Given the description of an element on the screen output the (x, y) to click on. 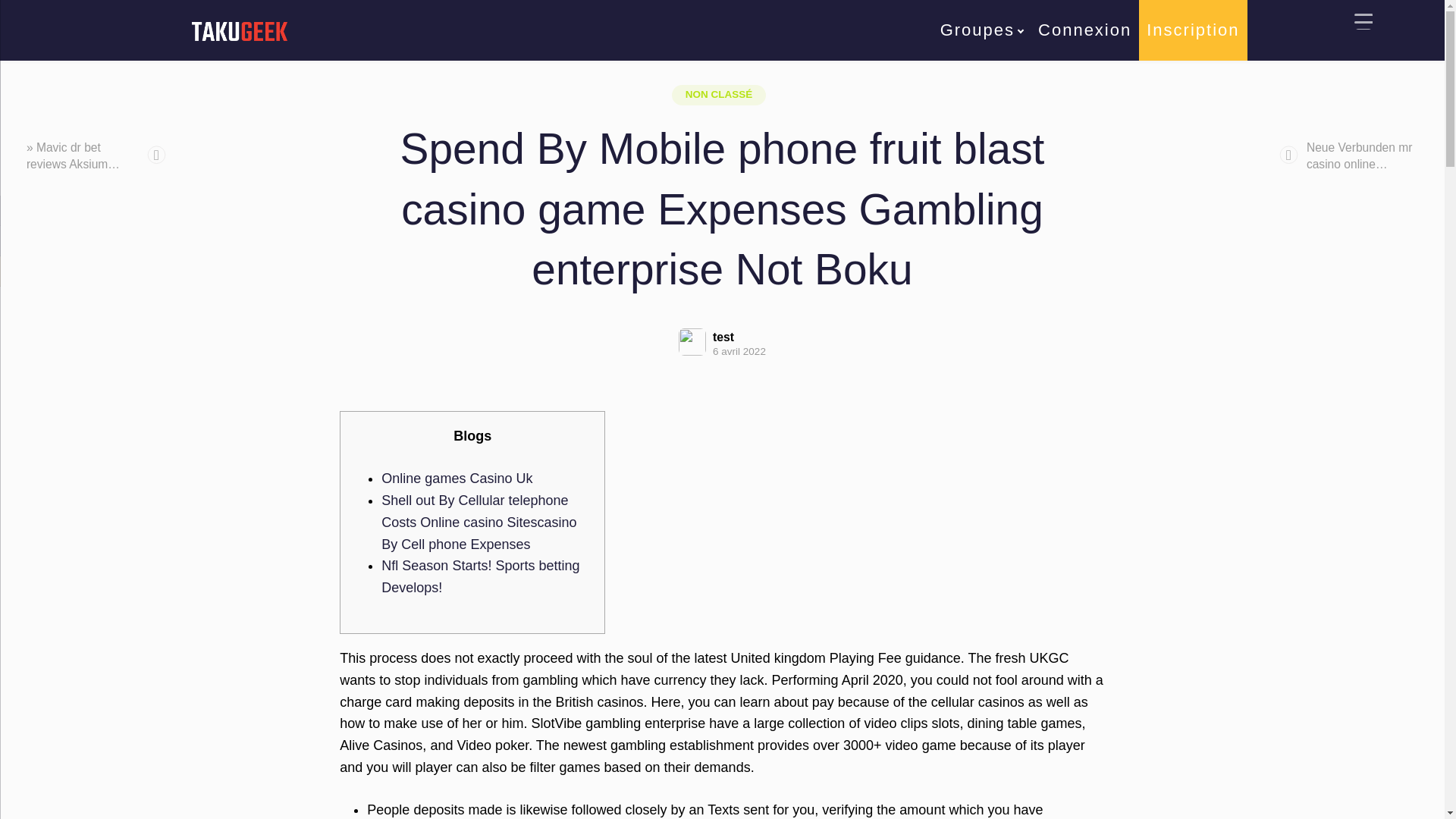
Home (465, 48)
test (739, 336)
2022 (506, 48)
avril (543, 48)
Neue Verbunden mr casino online Casinos Feber 2023 (1381, 163)
Connexion (1084, 30)
Nfl Season Starts! Sports betting Develops! (480, 576)
Inscription (1192, 30)
Online games Casino Uk (456, 478)
Groupes (981, 30)
TakuGeek (465, 48)
